Given the description of an element on the screen output the (x, y) to click on. 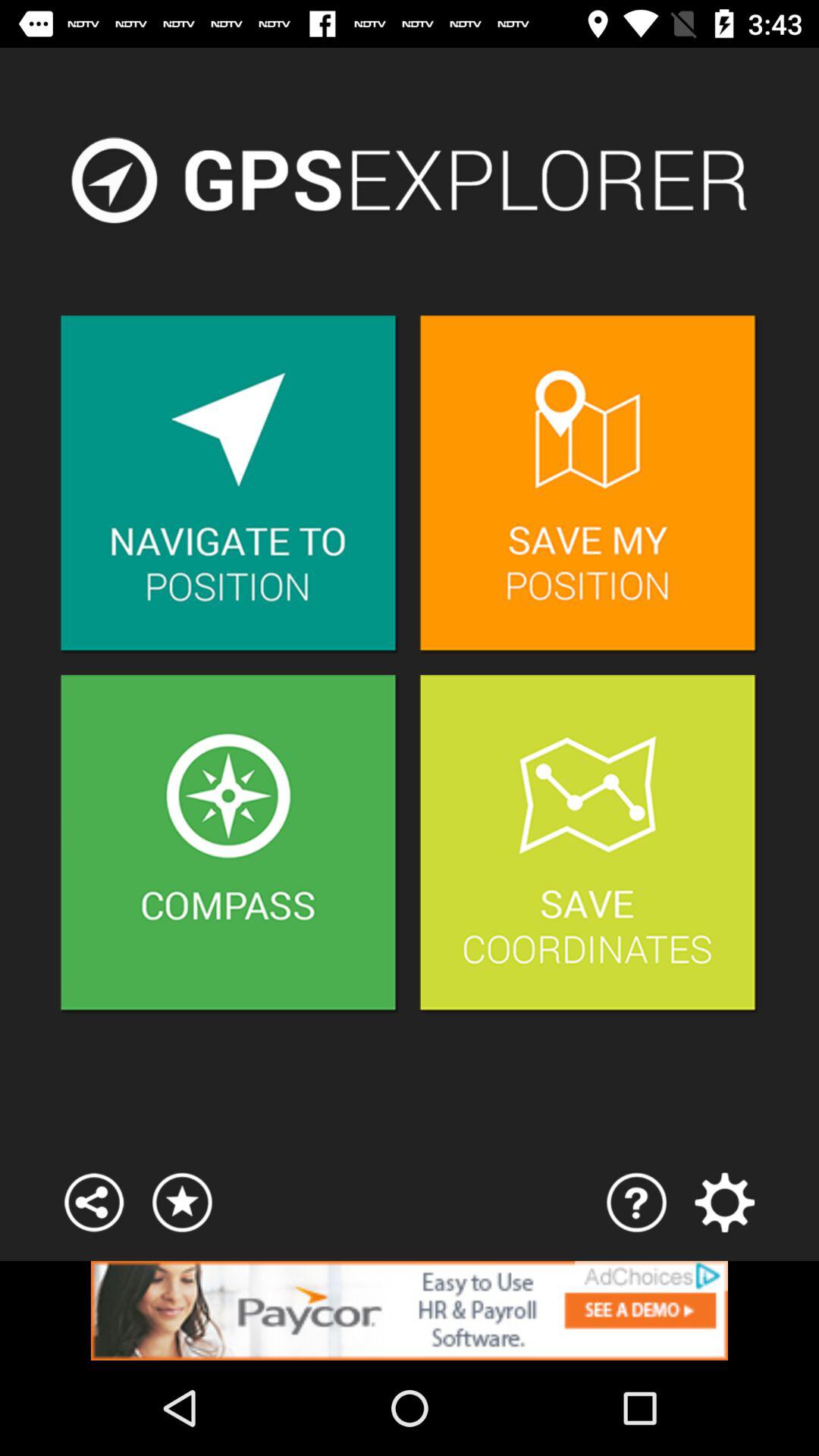
settings option (724, 1202)
